Given the description of an element on the screen output the (x, y) to click on. 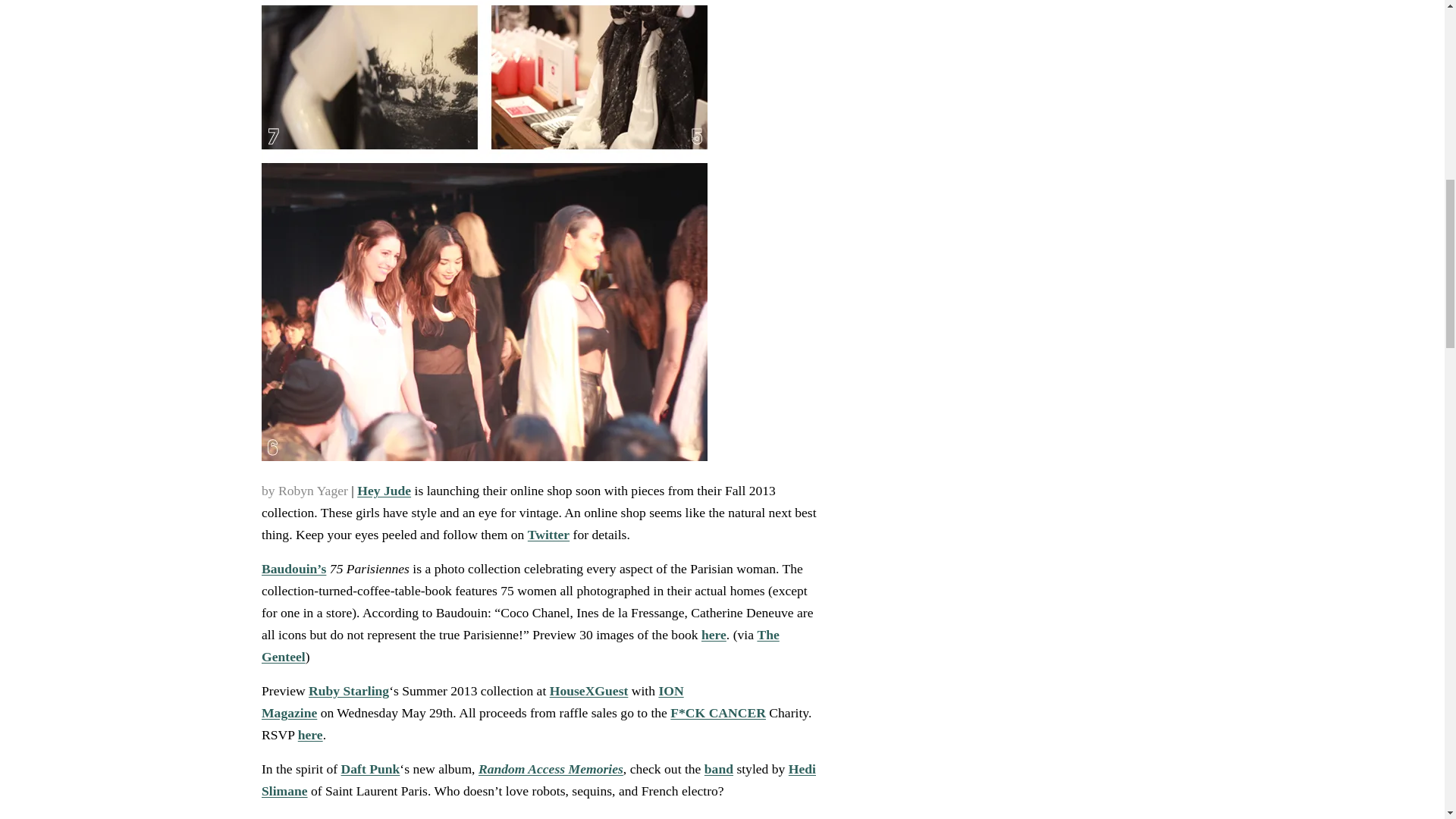
Hey Jude (383, 490)
Random Access Memories (550, 768)
here (712, 634)
band (717, 768)
The Genteel (519, 645)
Daft Punk (369, 768)
Ruby Starling (348, 690)
here (309, 734)
Hedi Slimane (537, 779)
